Given the description of an element on the screen output the (x, y) to click on. 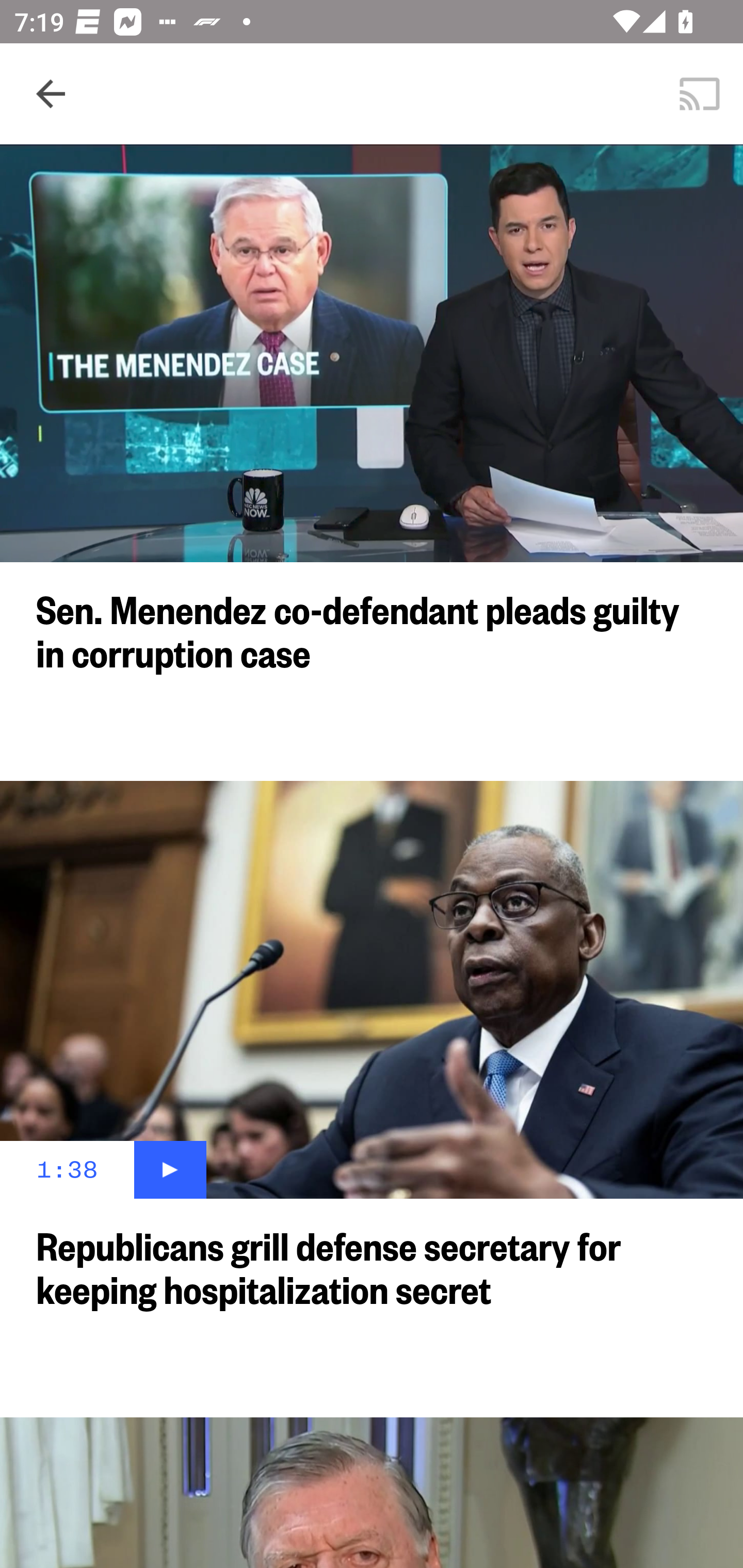
Navigate up (50, 93)
Cast. Disconnected (699, 93)
